Given the description of an element on the screen output the (x, y) to click on. 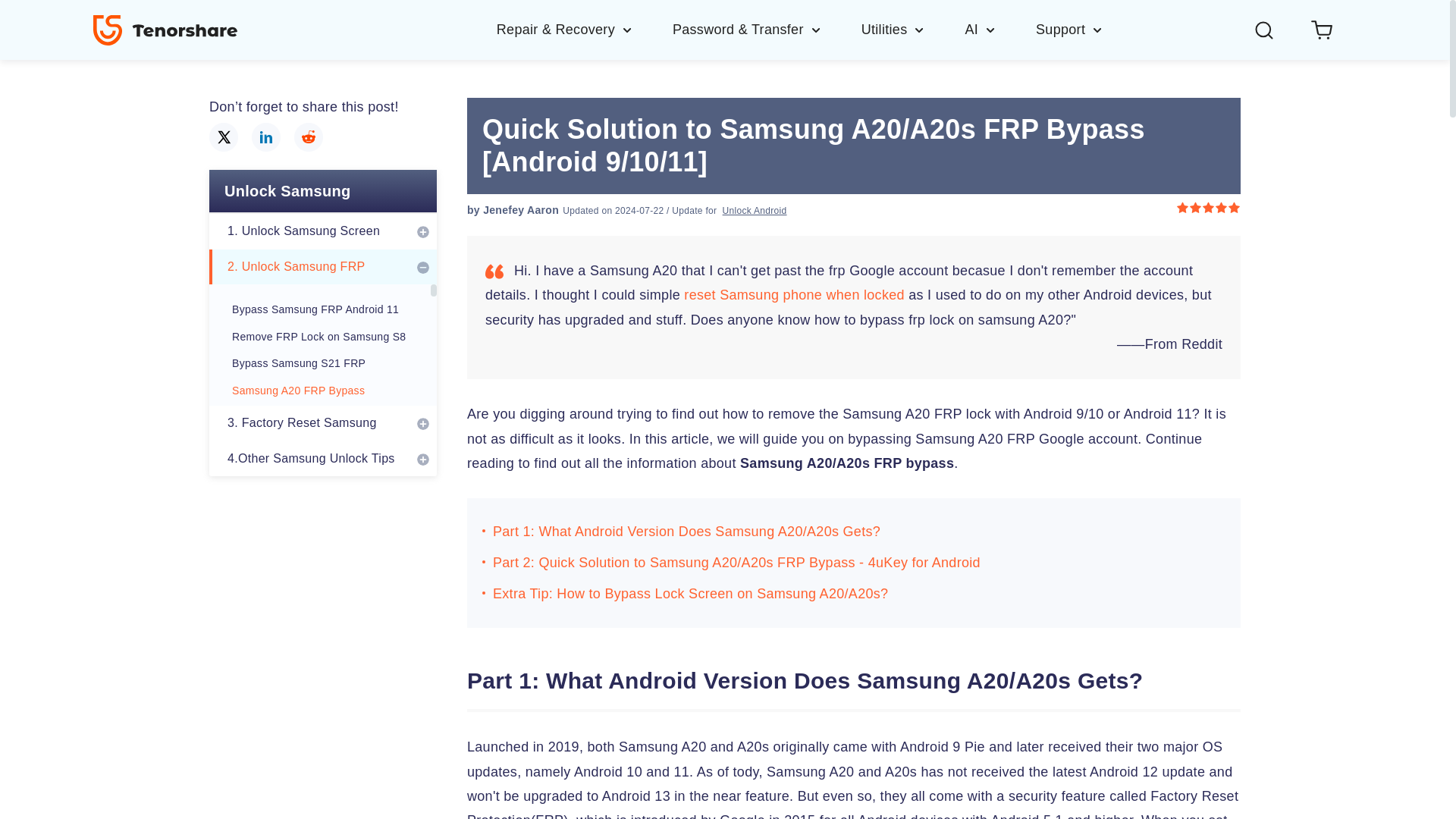
Support (1069, 29)
AI (999, 29)
Utilities (913, 29)
